Given the description of an element on the screen output the (x, y) to click on. 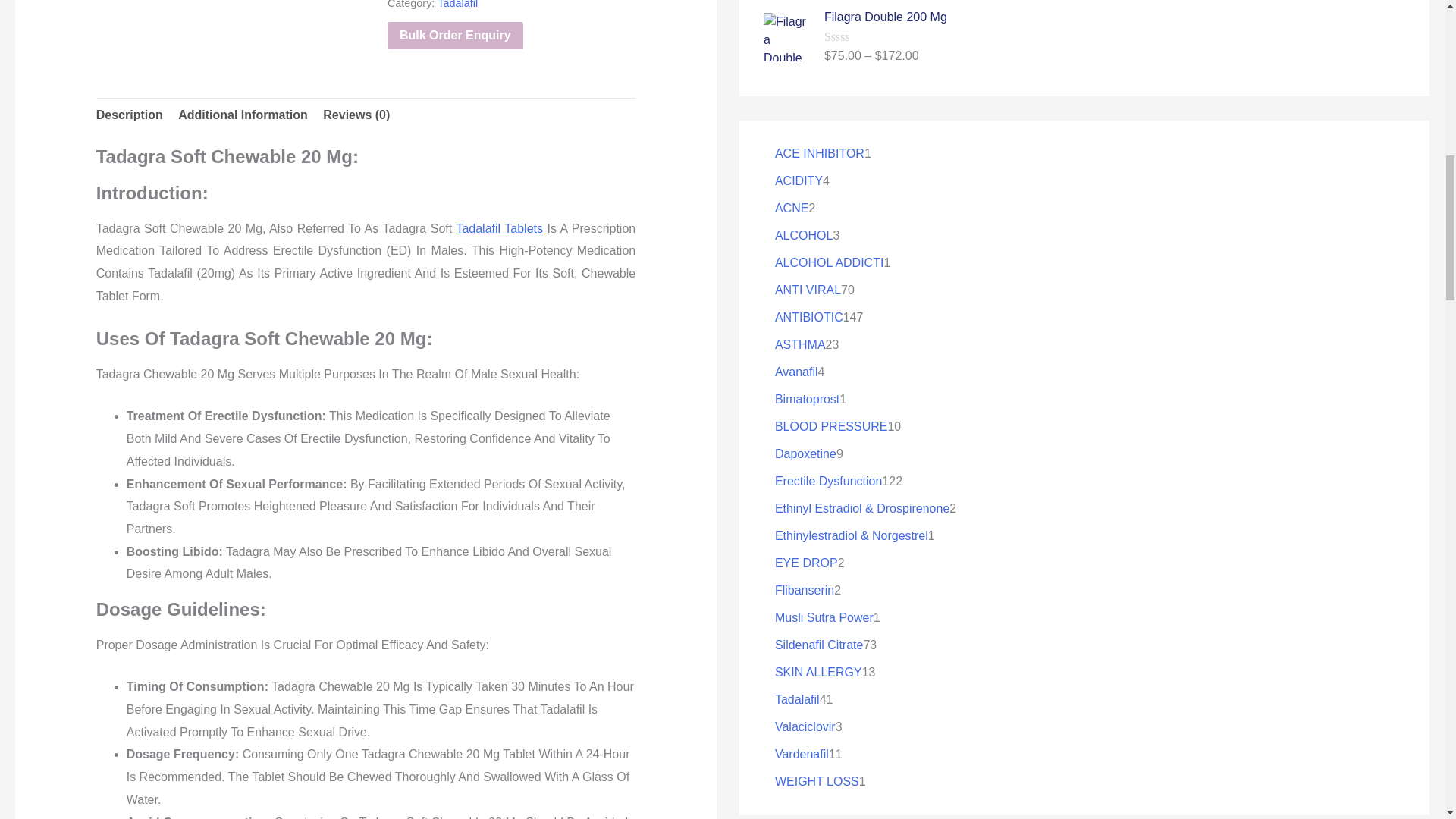
Description (129, 114)
Bulk Order Enquiry (454, 35)
Tadalafil (457, 4)
Additional Information (242, 114)
